Given the description of an element on the screen output the (x, y) to click on. 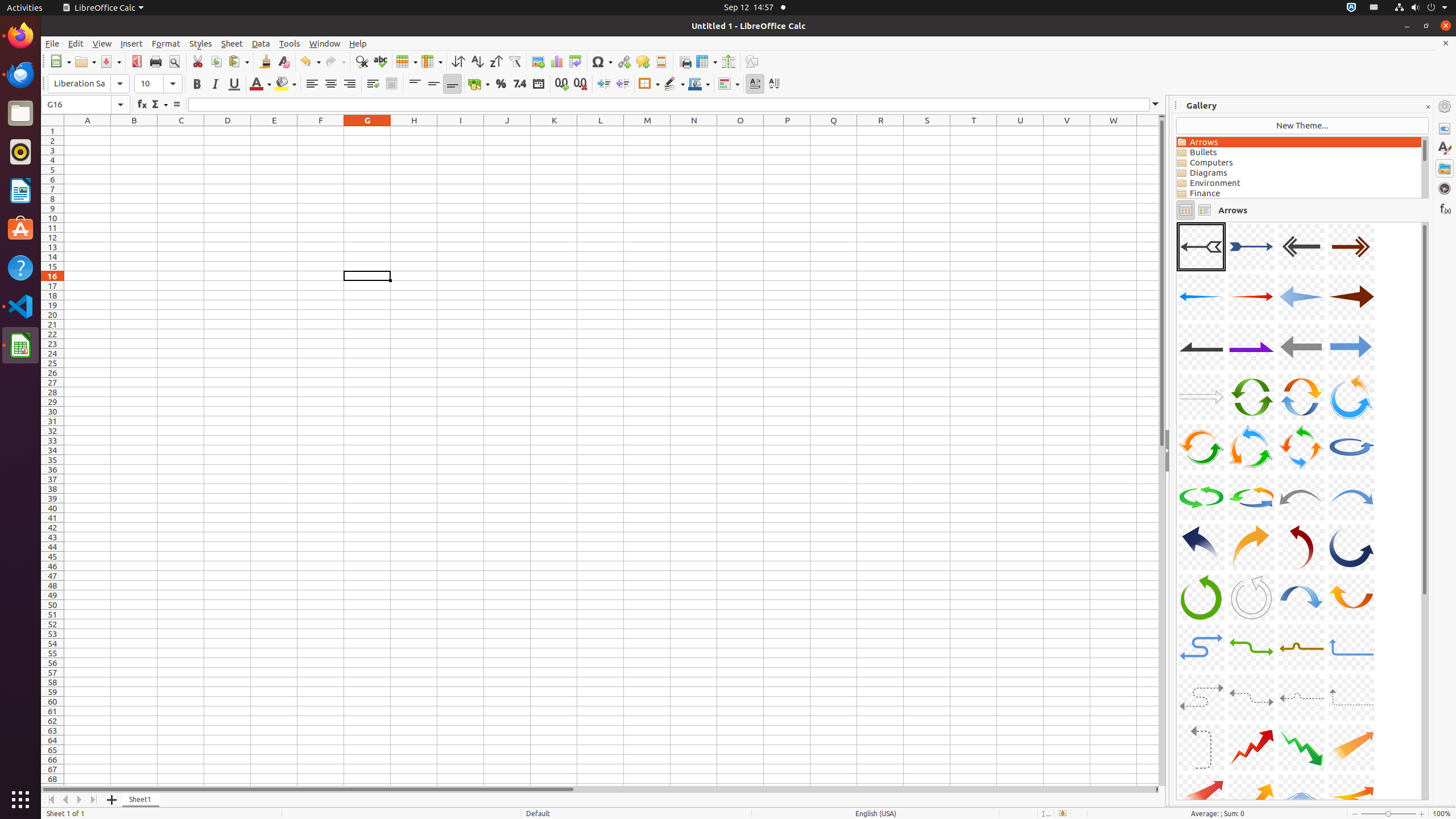
A06-Arrow-Red-Right Element type: list-item (1250, 296)
Icon View Element type: toggle-button (1185, 210)
:1.21/StatusNotifierItem Element type: menu (1373, 7)
Sheet1 Element type: page-tab (140, 799)
A39-CurvedArrow-Gray-Left Element type: list-item (1300, 696)
